Given the description of an element on the screen output the (x, y) to click on. 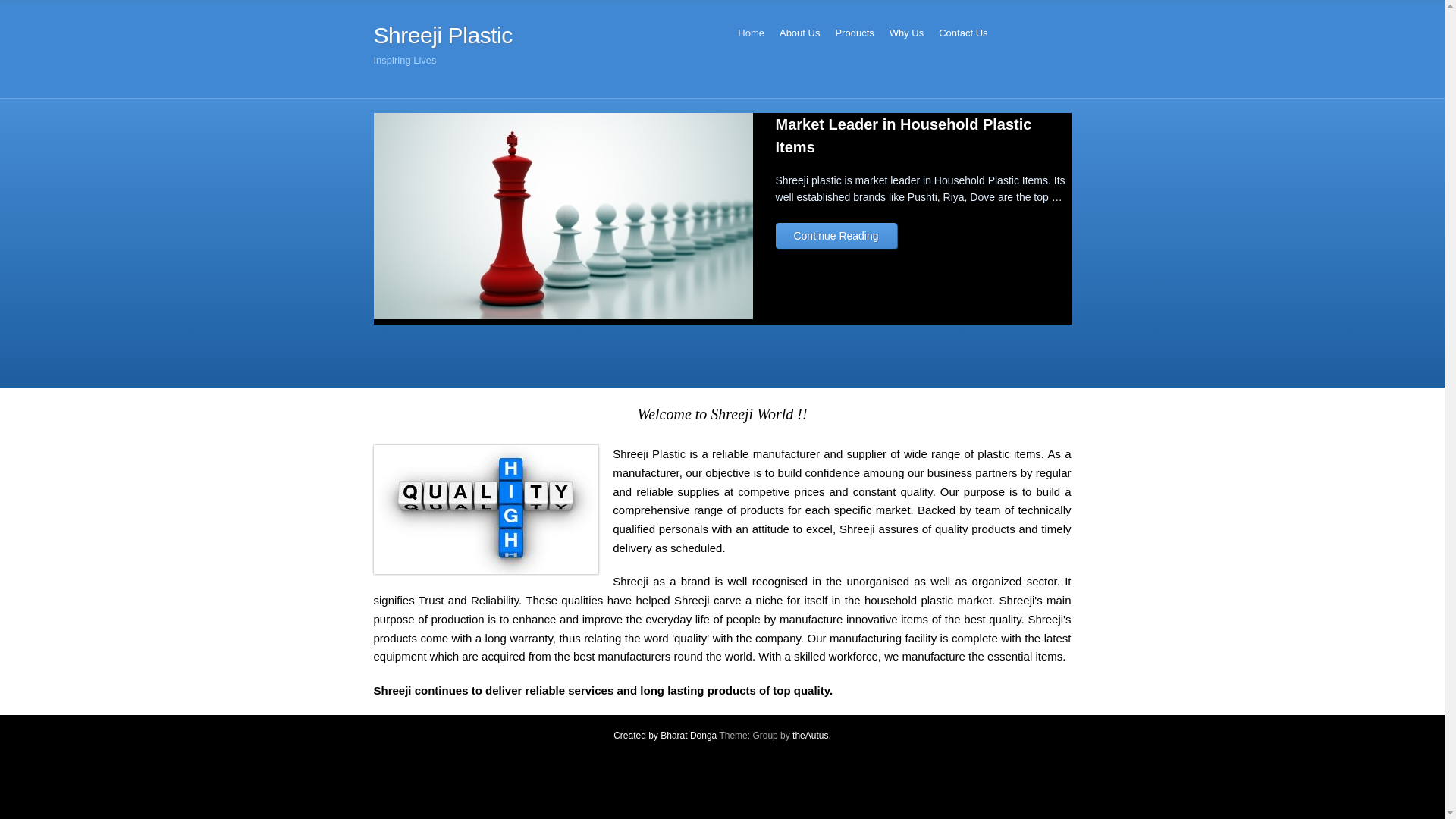
Permalink to Market Leader in Household Plastic Items (562, 315)
Contact Us (963, 33)
Created by Bharat Donga (664, 735)
Shreeji Plastic (442, 34)
Why Us (906, 33)
Skip to content (754, 33)
About Us (798, 33)
theAutus (810, 735)
Shreeji Plastic (442, 34)
Market Leader in Household Plastic Items (904, 135)
